Given the description of an element on the screen output the (x, y) to click on. 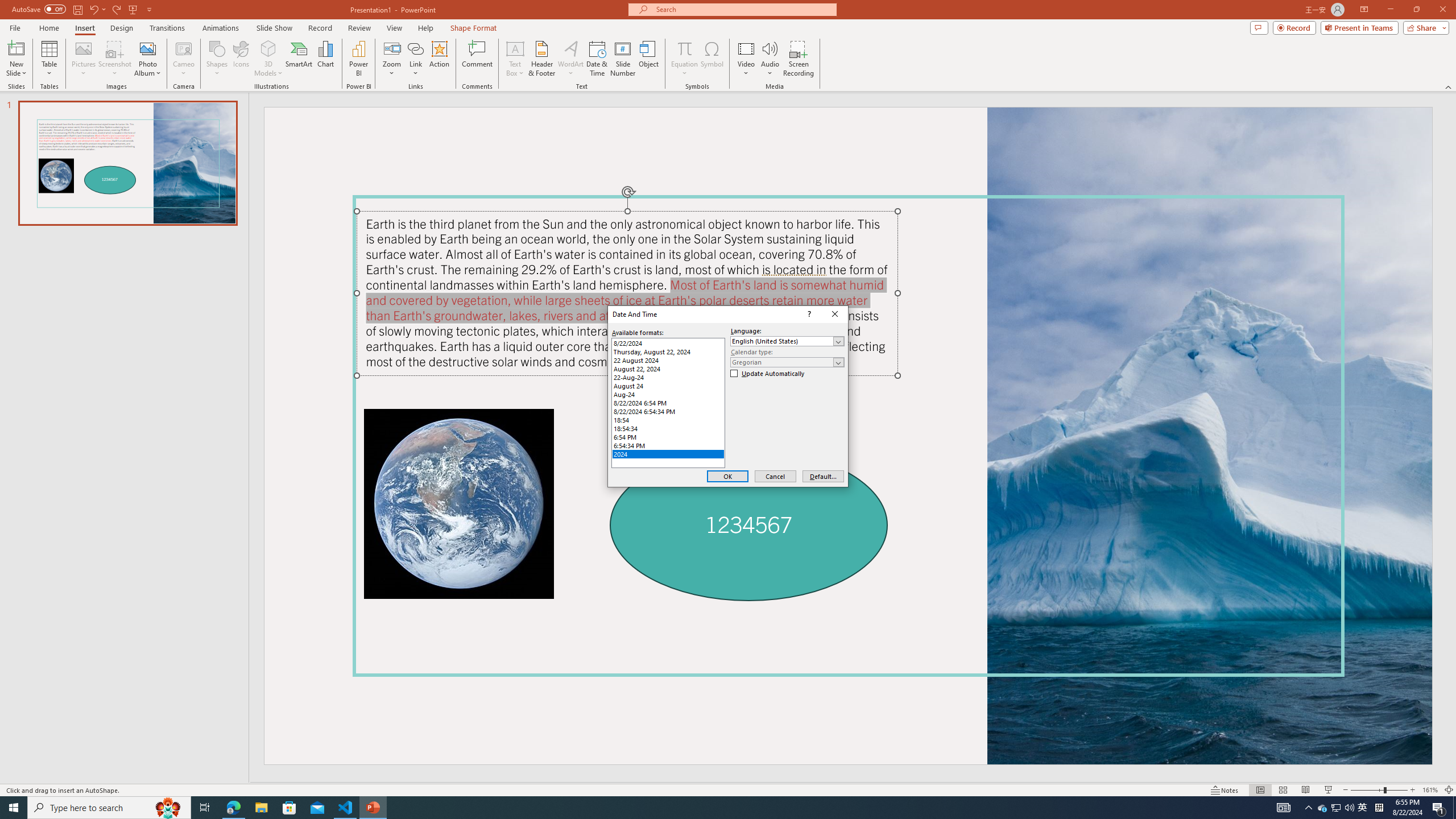
6:54 PM (667, 436)
Symbol... (711, 58)
Ribbon Display Options (1364, 9)
2024 (667, 453)
Equation (683, 48)
Zoom 161% (1430, 790)
Search highlights icon opens search home window (167, 807)
Home (48, 28)
Object... (649, 58)
More Options (683, 68)
PowerPoint - 1 running window (373, 807)
Share (1423, 27)
Text Box (515, 58)
